Given the description of an element on the screen output the (x, y) to click on. 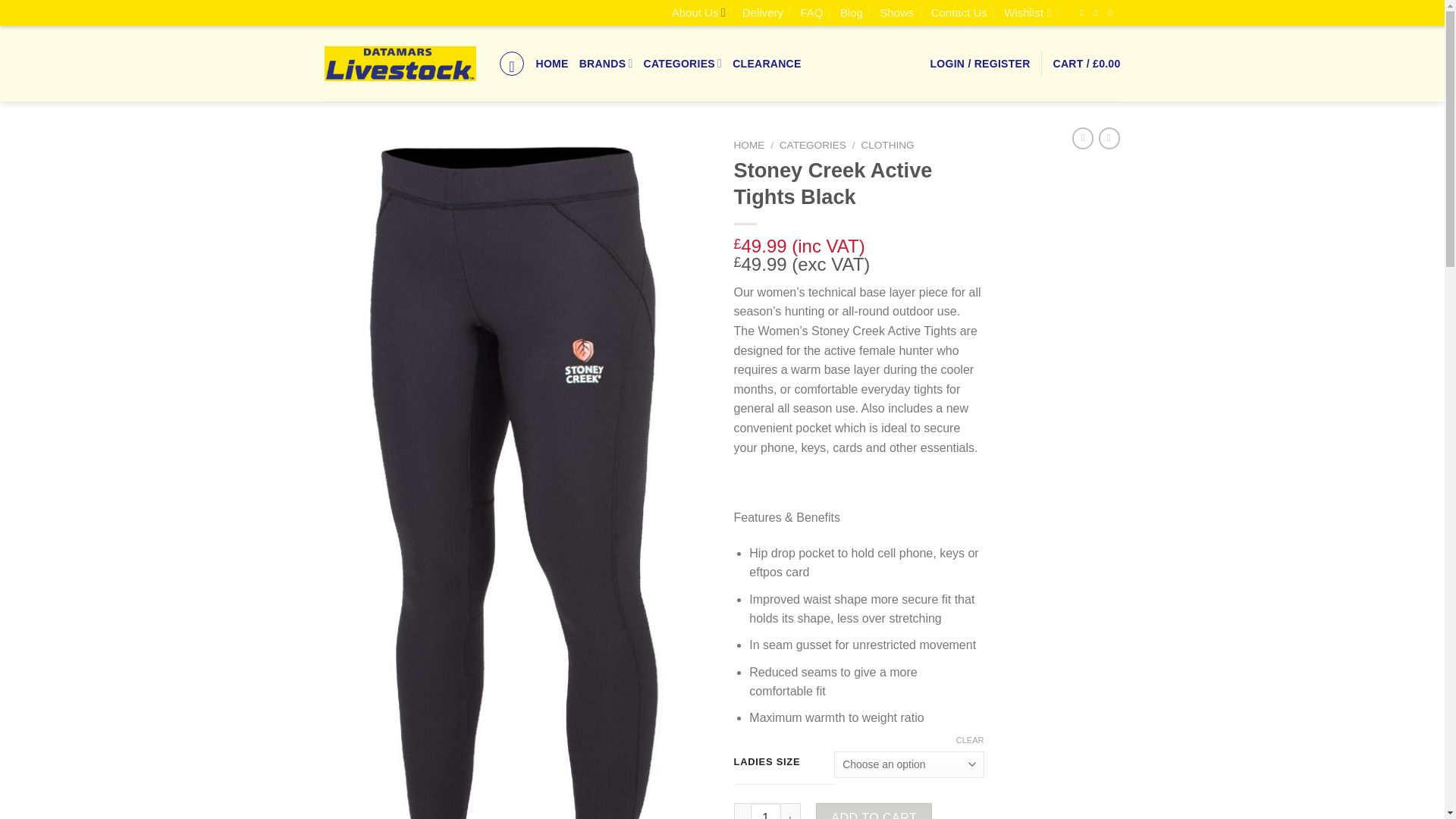
BRANDS (606, 62)
HOME (552, 63)
Wishlist (1027, 12)
About Us (698, 12)
- (742, 811)
Delivery (762, 12)
Contact Us (959, 12)
1 (765, 811)
CATEGORIES (682, 62)
Shows (896, 12)
